Given the description of an element on the screen output the (x, y) to click on. 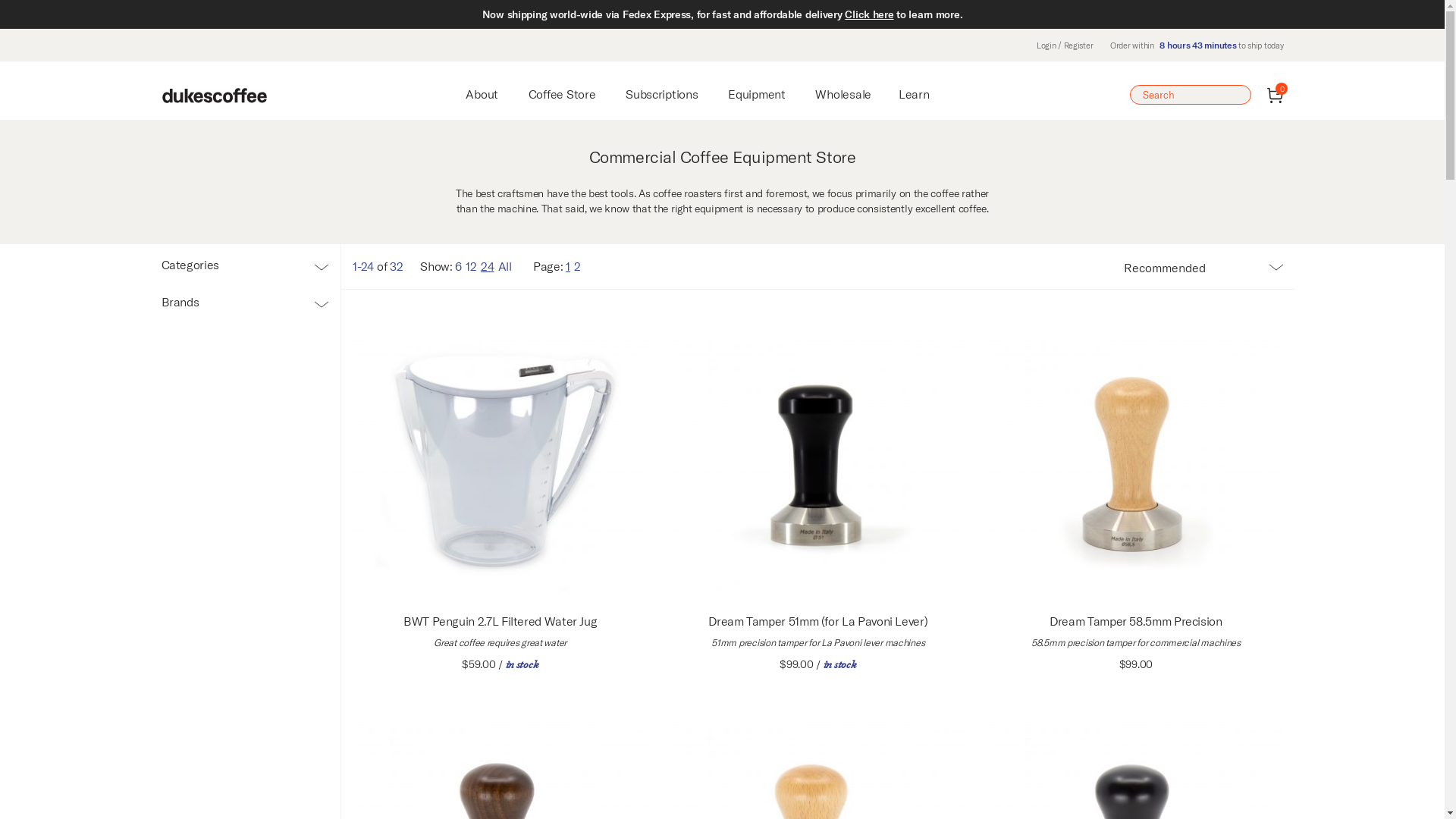
0 Element type: text (1275, 95)
Equipment Element type: text (756, 94)
Coffee Store Element type: text (562, 94)
About Element type: text (481, 94)
6 Element type: text (458, 265)
1 Element type: text (567, 265)
Login / Register Element type: text (1064, 45)
Learn Element type: text (913, 94)
Wholesale Element type: text (842, 94)
24 Element type: text (486, 265)
Subscriptions Element type: text (661, 94)
All Element type: text (504, 265)
12 Element type: text (470, 265)
2 Element type: text (577, 265)
Click here Element type: text (868, 14)
